Given the description of an element on the screen output the (x, y) to click on. 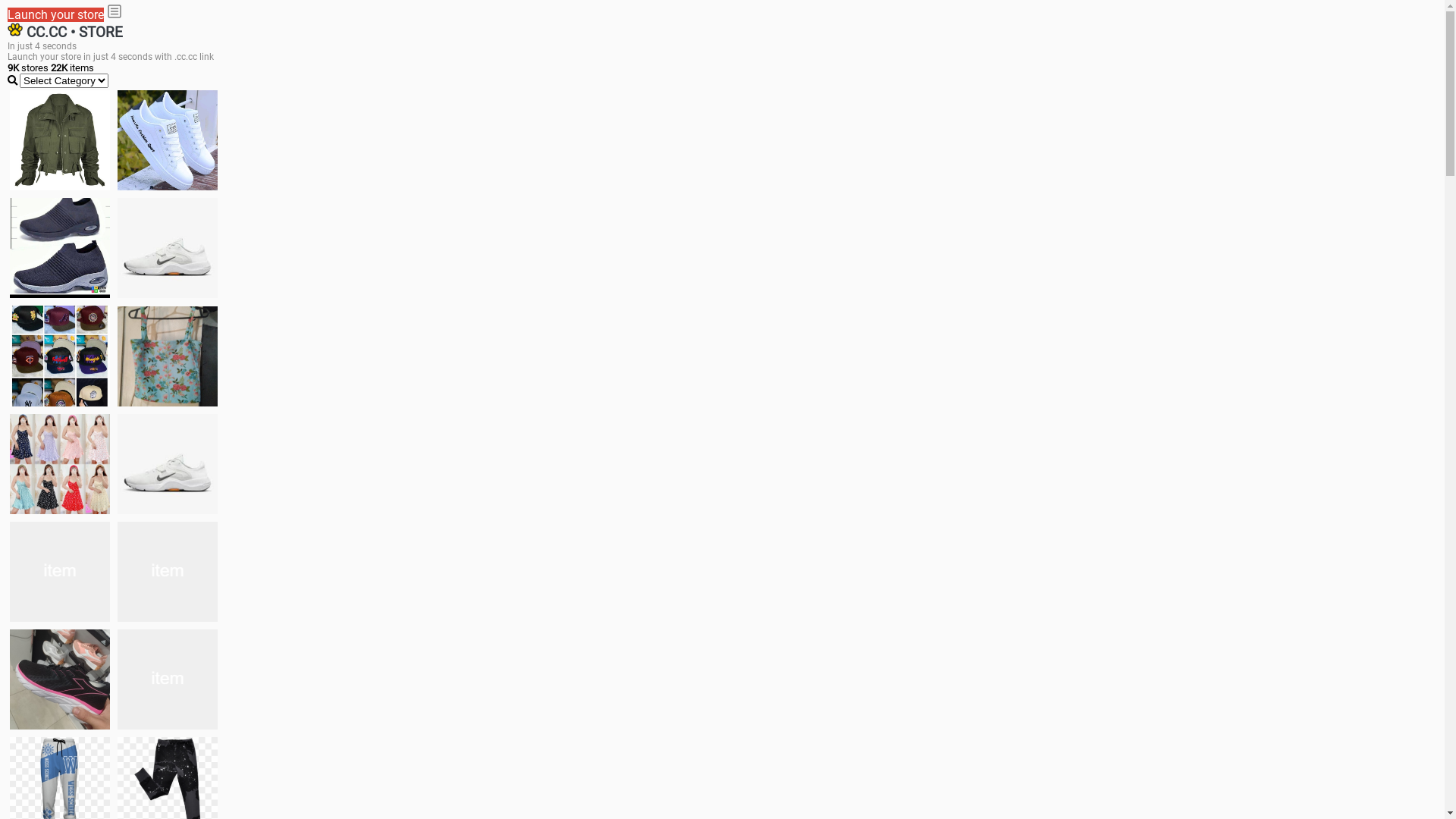
white shoes Element type: hover (167, 140)
Dress/square nect top Element type: hover (59, 464)
jacket Element type: hover (59, 140)
Ukay cloth Element type: hover (167, 356)
Short pant Element type: hover (167, 679)
Zapatillas Element type: hover (59, 679)
Zapatillas pumas Element type: hover (167, 571)
Things we need Element type: hover (59, 355)
Launch your store Element type: text (55, 14)
Shoes for boys Element type: hover (167, 247)
Shoes Element type: hover (167, 464)
shoes for boys Element type: hover (59, 247)
